Given the description of an element on the screen output the (x, y) to click on. 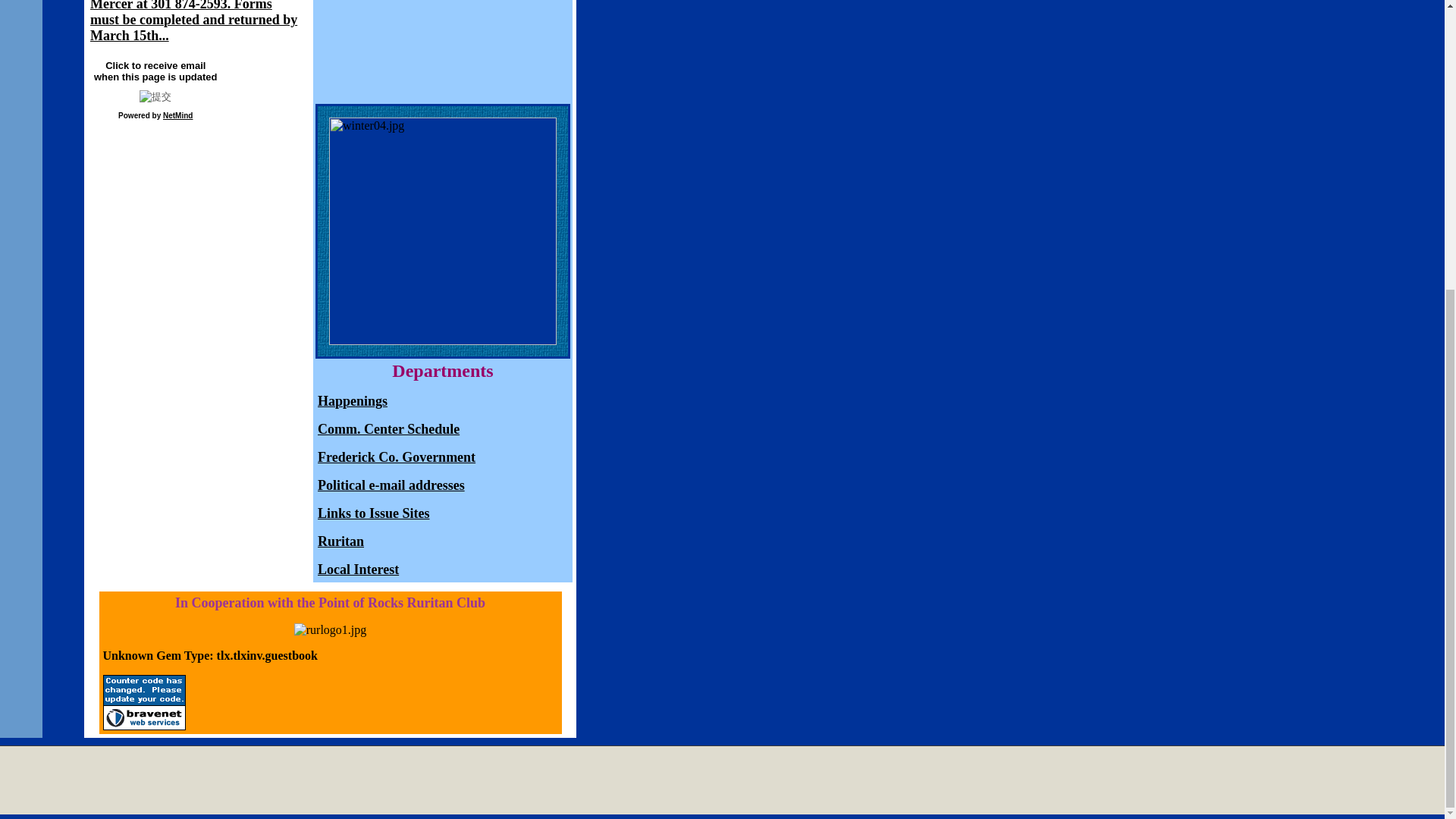
Happenings (352, 400)
NetMind (177, 115)
Ruritan (340, 541)
Frederick Co. Government (396, 457)
Links to Issue Sites (373, 513)
Comm. Center Schedule (388, 429)
Local Interest (357, 569)
Political e-mail addresses (390, 485)
